Given the description of an element on the screen output the (x, y) to click on. 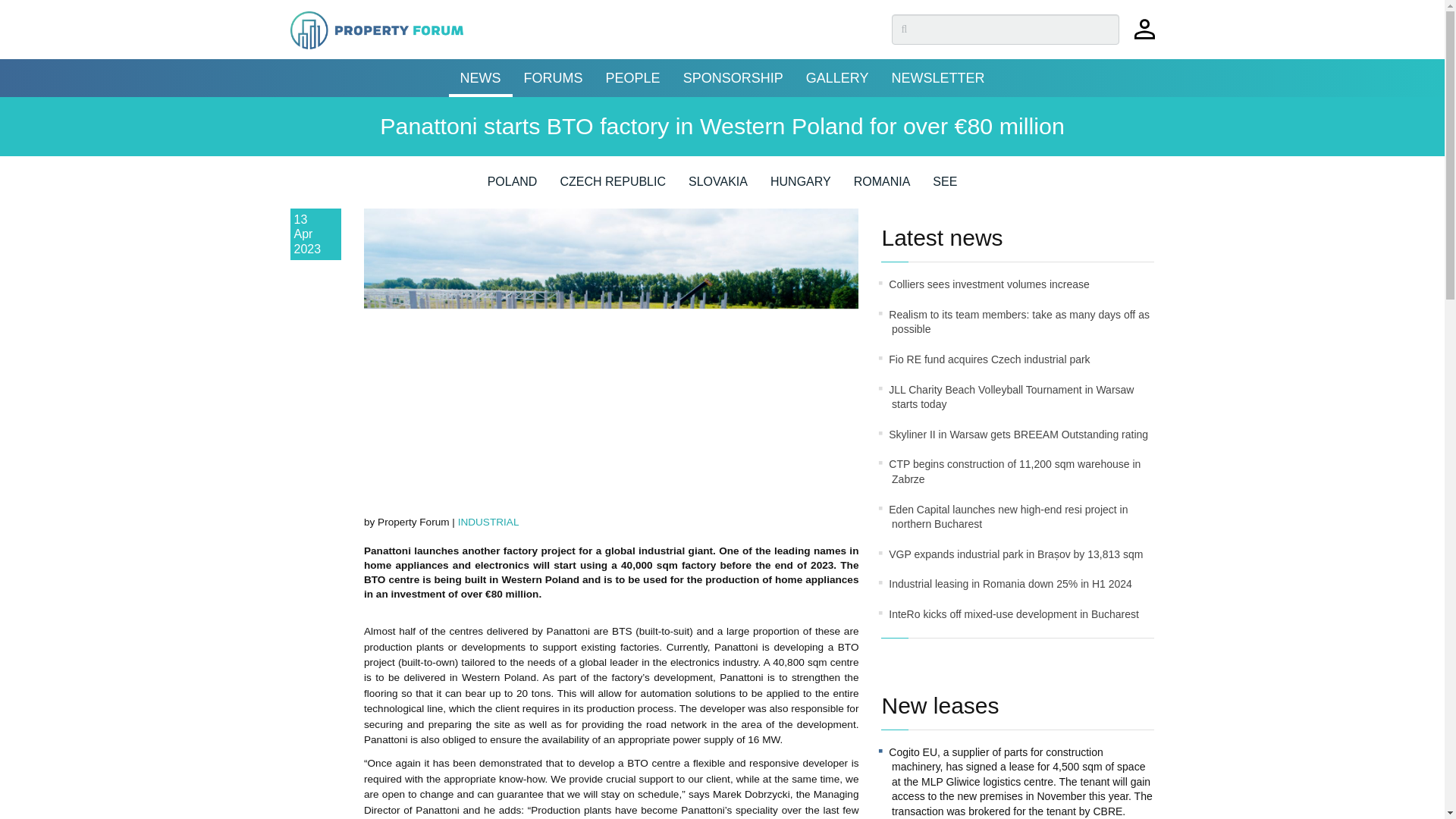
FORUMS (553, 77)
CZECH REPUBLIC (612, 186)
GALLERY (837, 77)
HUNGARY (800, 186)
ROMANIA (882, 186)
Signed out (1144, 36)
SLOVAKIA (718, 186)
SEE (944, 186)
NEWSLETTER (937, 77)
SPONSORSHIP (732, 77)
